Given the description of an element on the screen output the (x, y) to click on. 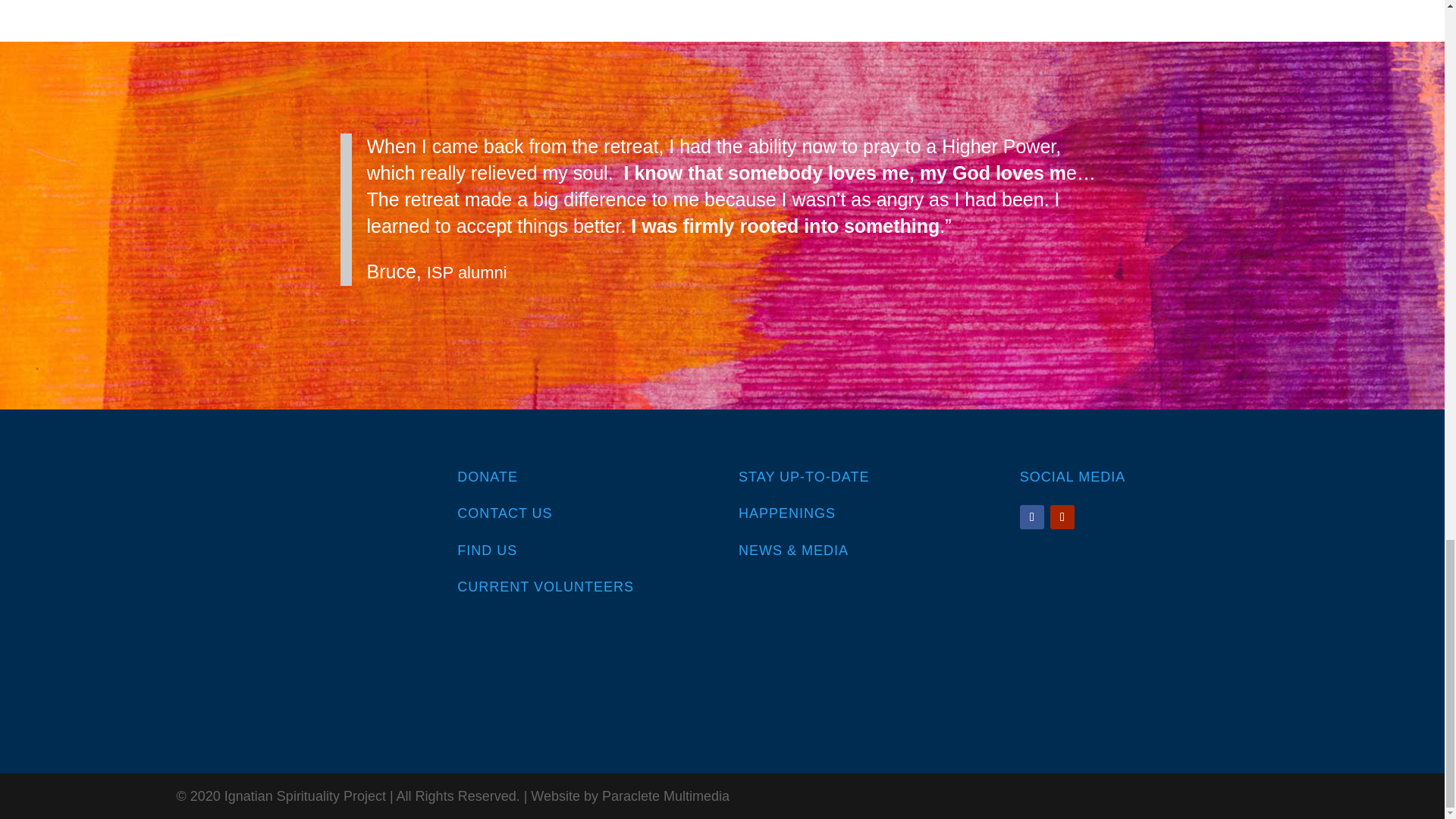
Follow on Facebook (1031, 517)
Follow on Youtube (1061, 517)
